Given the description of an element on the screen output the (x, y) to click on. 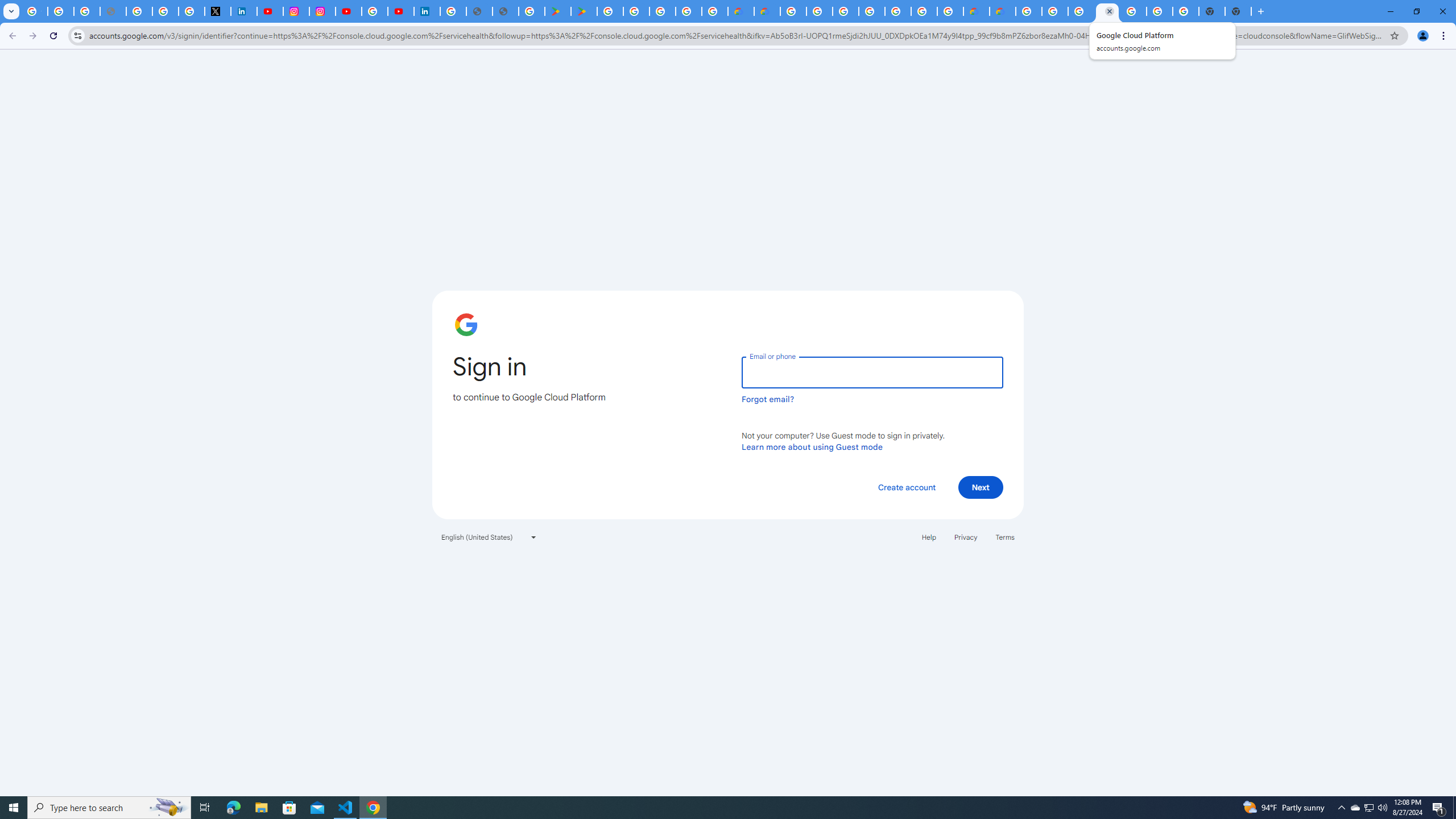
Browse Chrome as a guest - Computer - Google Chrome Help (1054, 11)
Google Cloud Platform (1133, 11)
Learn more about using Guest mode (812, 446)
Google Cloud Platform (923, 11)
Sign in - Google Accounts (165, 11)
X (217, 11)
Customer Care | Google Cloud (740, 11)
